Given the description of an element on the screen output the (x, y) to click on. 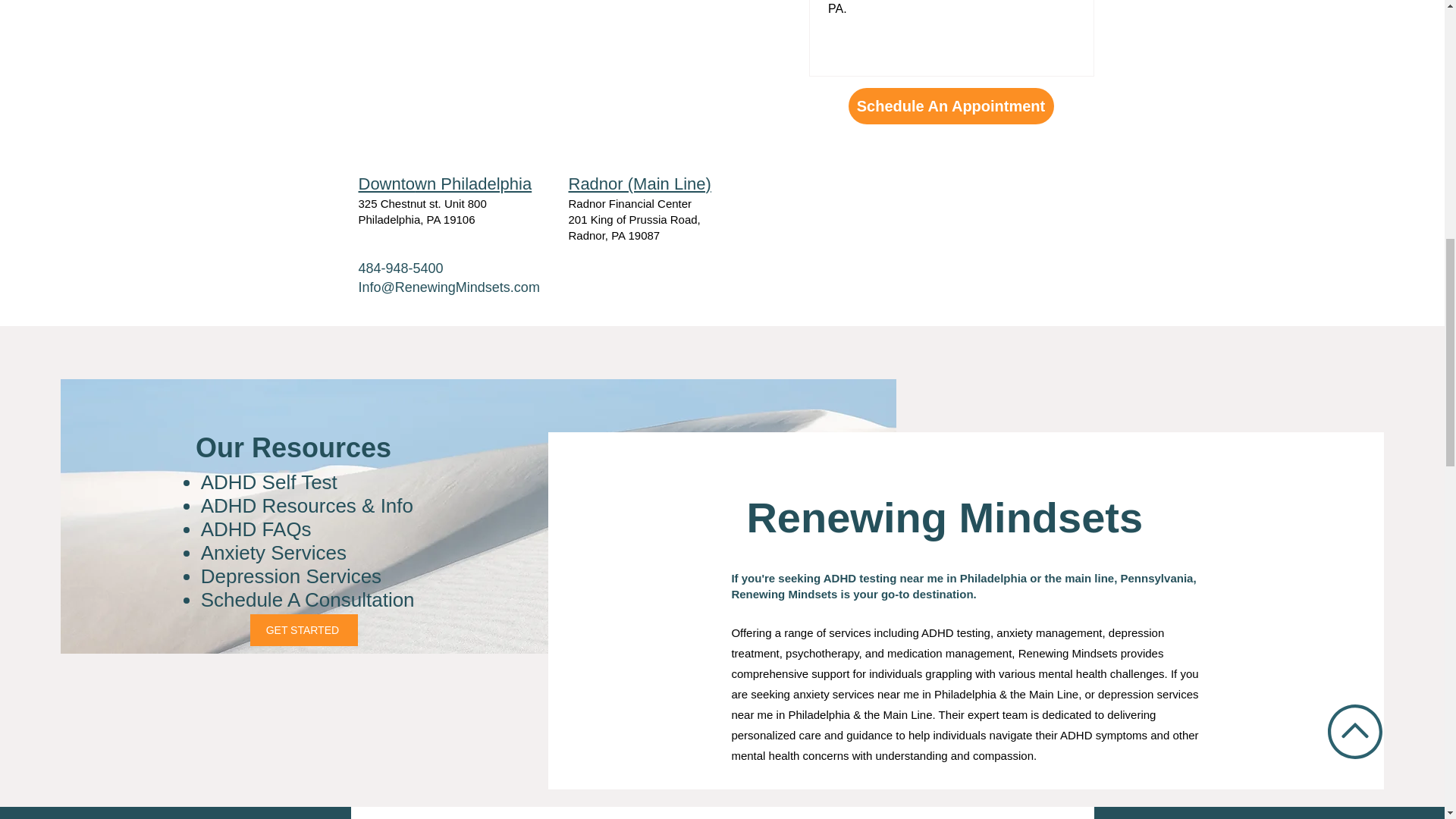
Schedule An Appointment (949, 105)
